Given the description of an element on the screen output the (x, y) to click on. 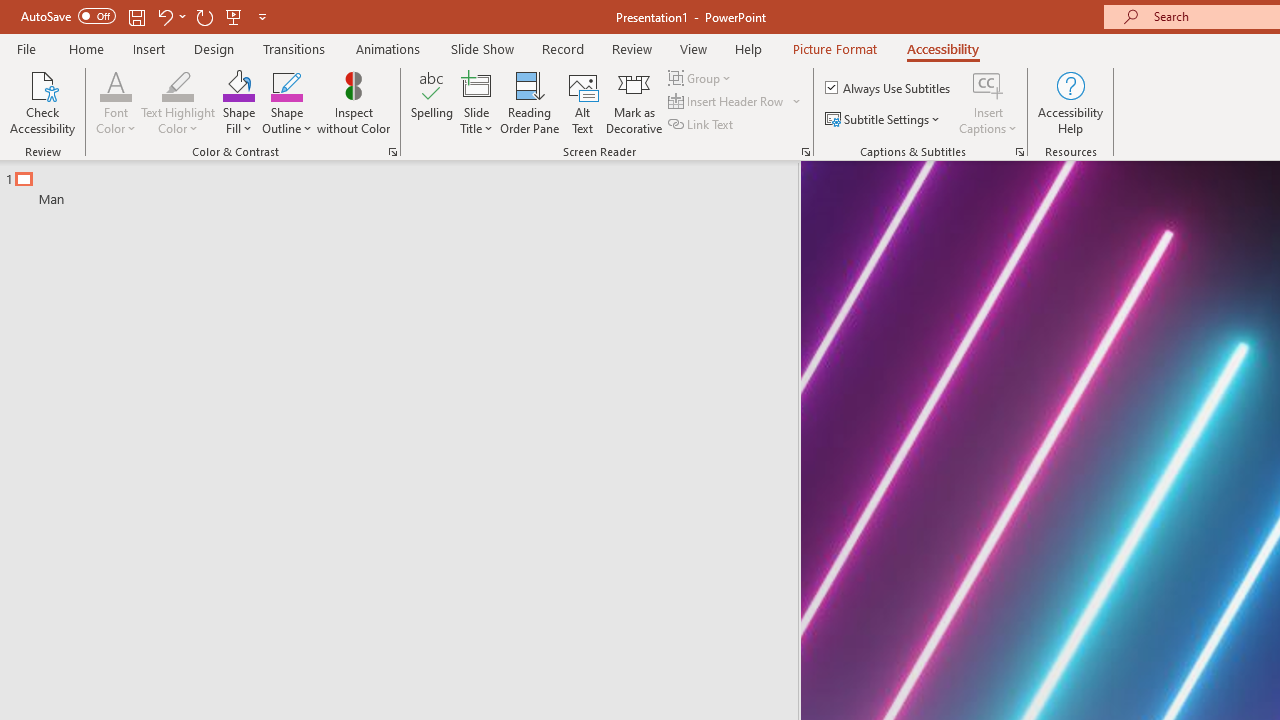
More Options (988, 121)
Shape Outline Blue, Accent 1 (286, 84)
Mark as Decorative (634, 102)
Slide Title (476, 102)
Reading Order Pane (529, 102)
Shape Fill Orange, Accent 2 (238, 84)
View (693, 48)
Insert (149, 48)
Alt Text (582, 102)
Text Highlight Color (178, 84)
Shape Fill (238, 102)
Animations (388, 48)
